Given the description of an element on the screen output the (x, y) to click on. 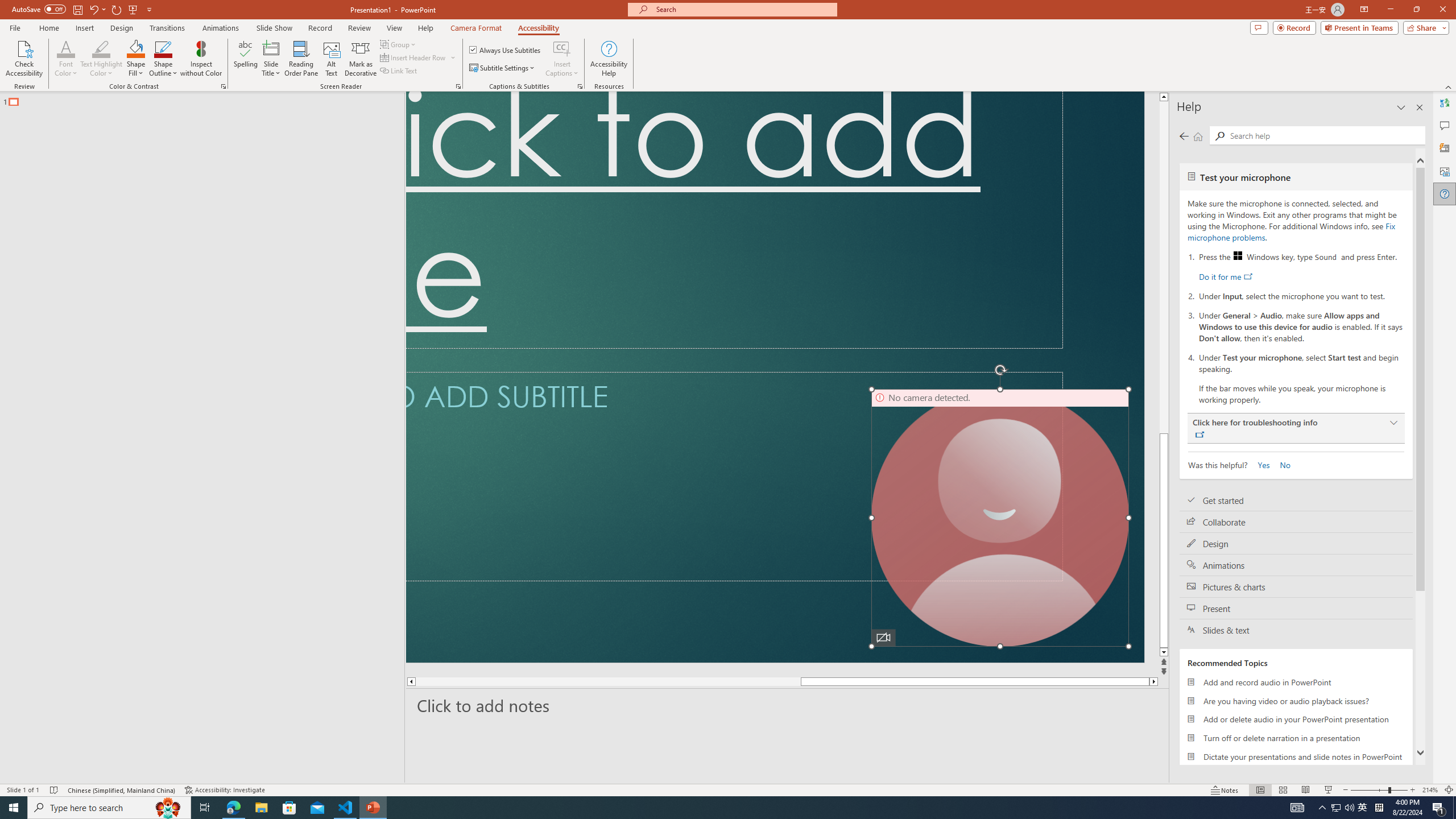
Turn off or delete narration in a presentation (1295, 737)
Mark as Decorative (360, 58)
Link Text (399, 69)
Decorative Locked (775, 376)
Are you having video or audio playback issues? (1295, 700)
